Given the description of an element on the screen output the (x, y) to click on. 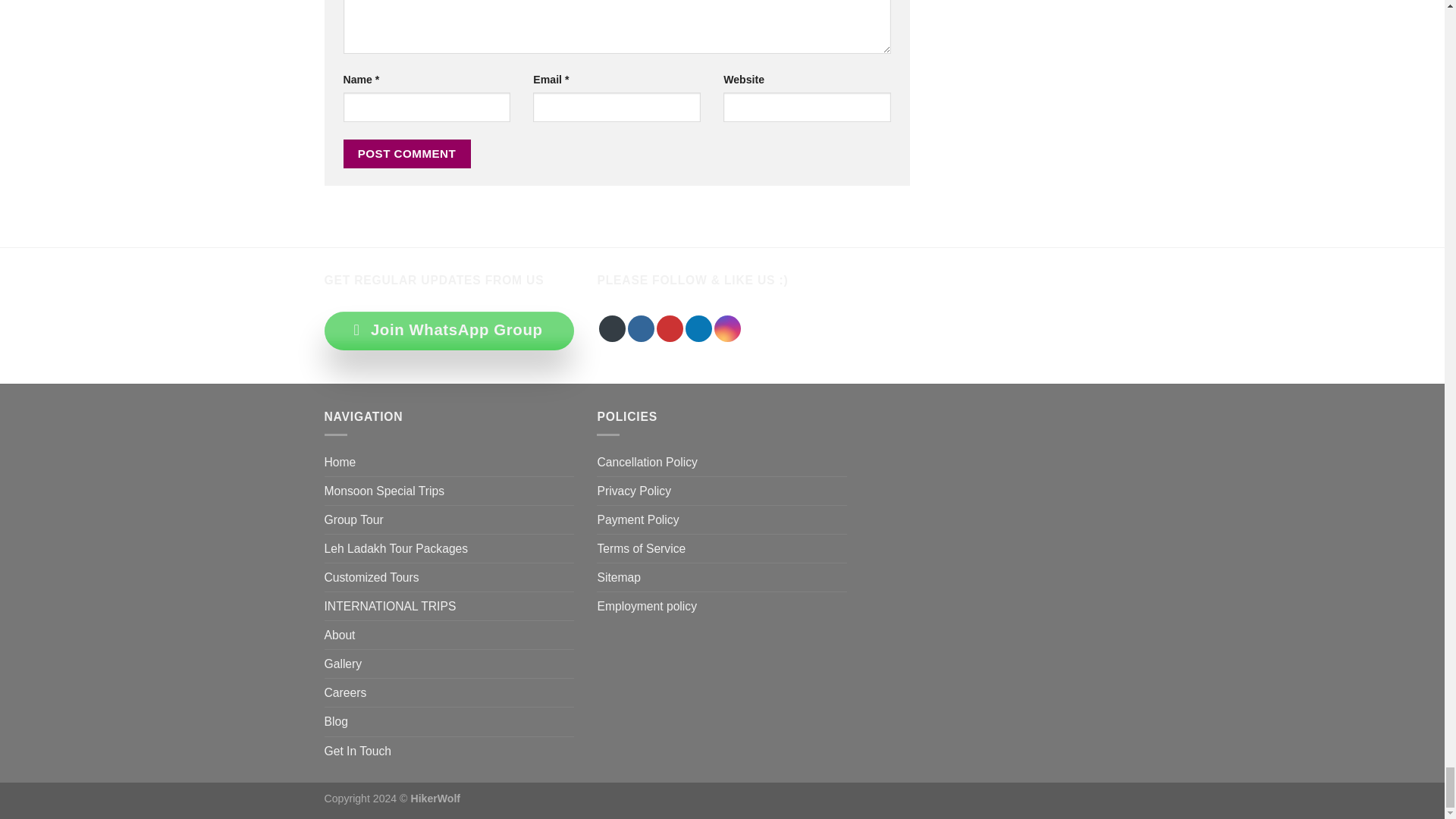
Post Comment (406, 153)
